Given the description of an element on the screen output the (x, y) to click on. 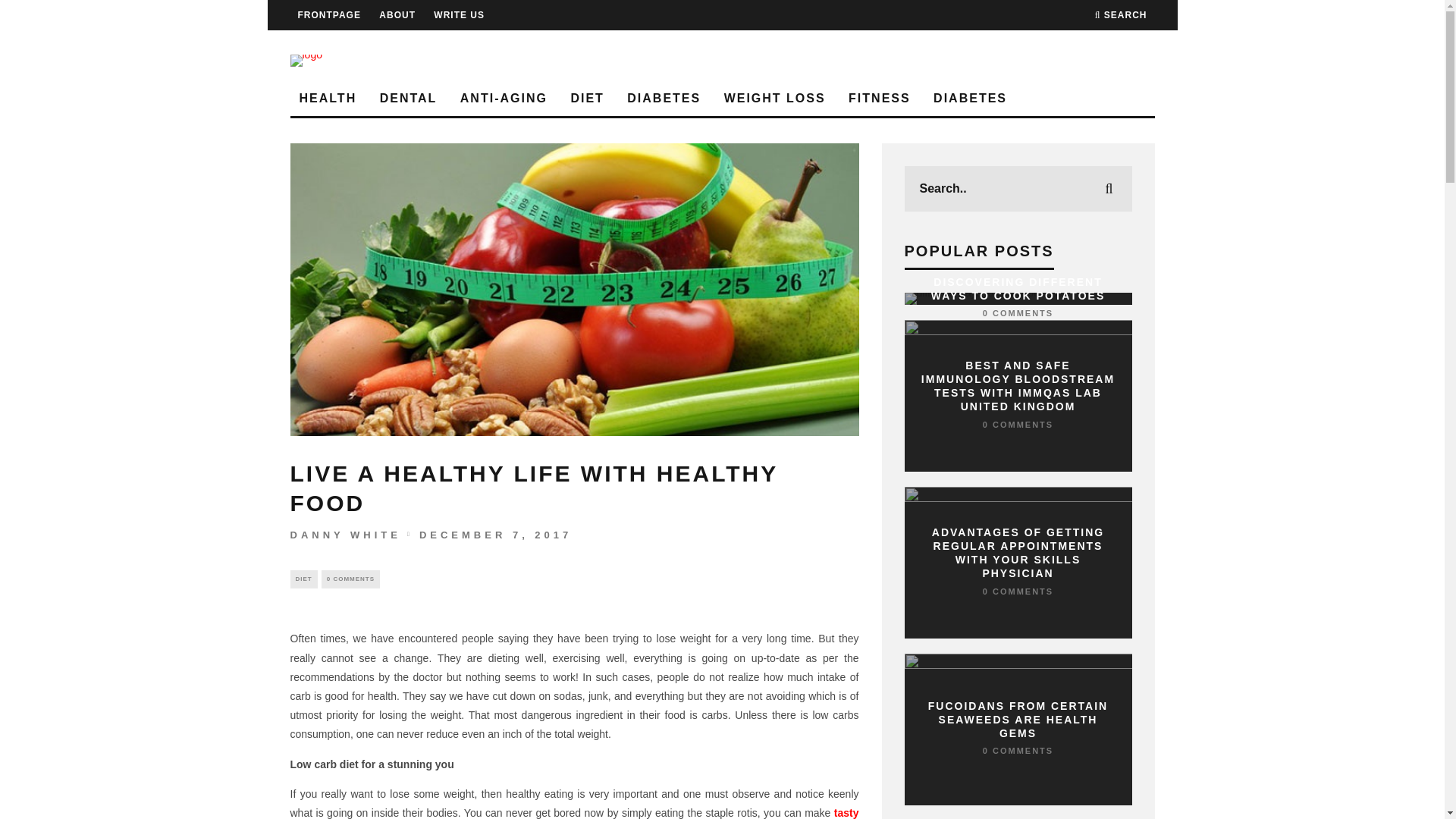
ANTI-AGING (503, 98)
SEARCH (1120, 15)
ABOUT (396, 15)
DIABETES (970, 98)
HEALTH (327, 98)
tasty low carb flour (574, 812)
WRITE US (458, 15)
DIABETES (663, 98)
WEIGHT LOSS (774, 98)
FITNESS (880, 98)
